Given the description of an element on the screen output the (x, y) to click on. 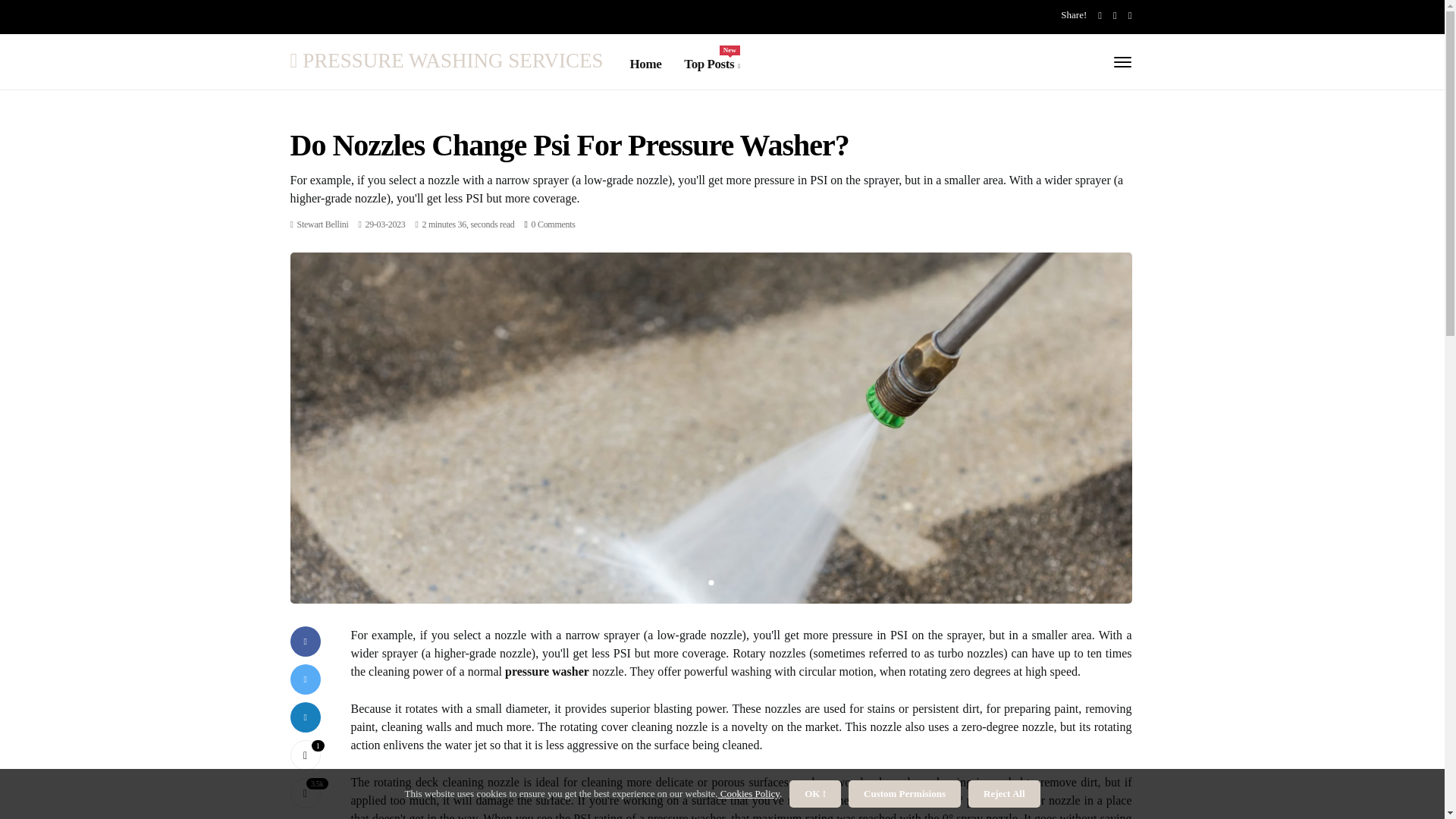
1 (710, 582)
Stewart Bellini (323, 224)
PRESSURE WASHING SERVICES (445, 59)
0 Comments (553, 224)
1 (711, 64)
Like (304, 755)
Posts by Stewart Bellini (304, 755)
